Given the description of an element on the screen output the (x, y) to click on. 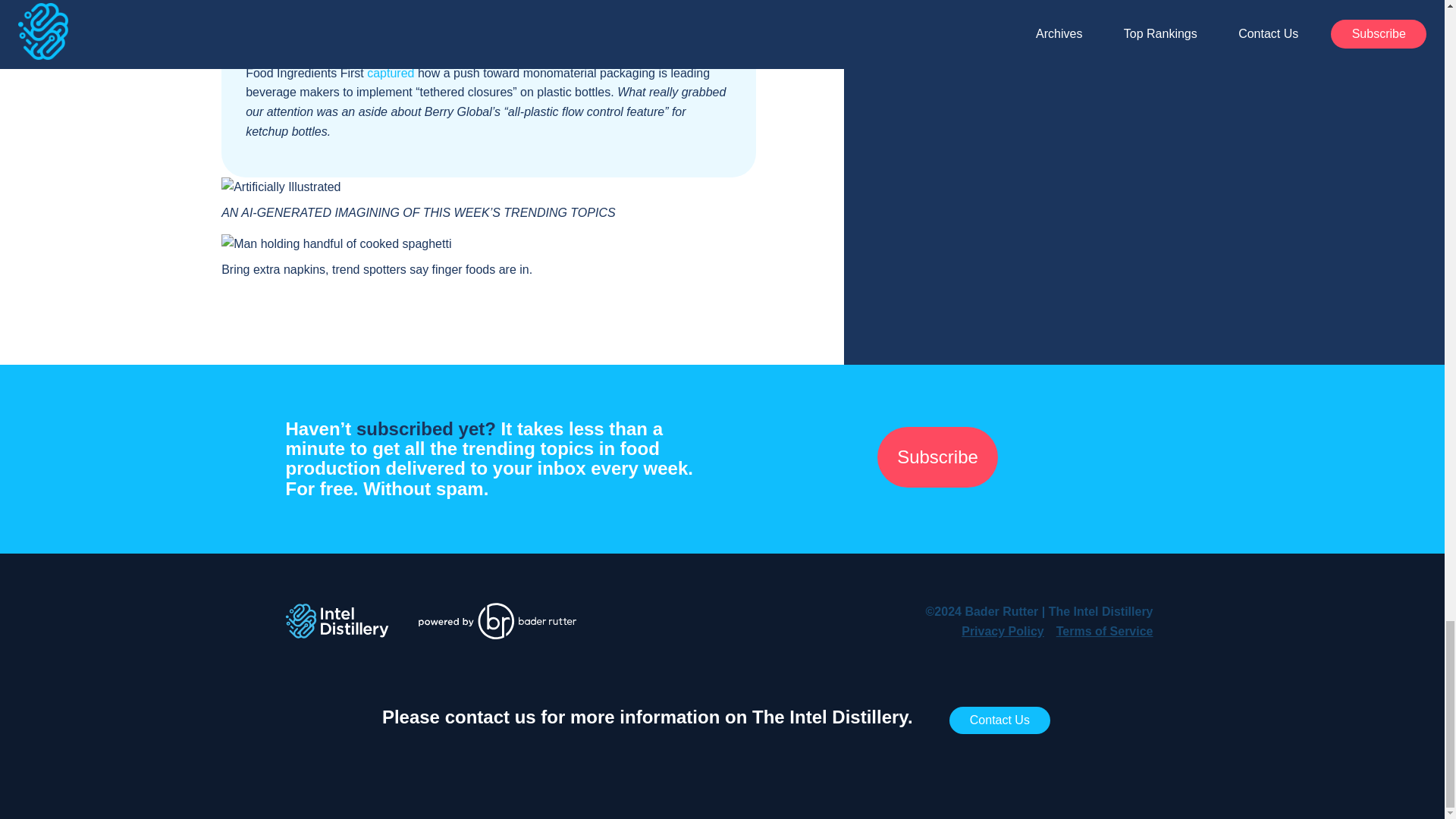
captured (389, 72)
